Given the description of an element on the screen output the (x, y) to click on. 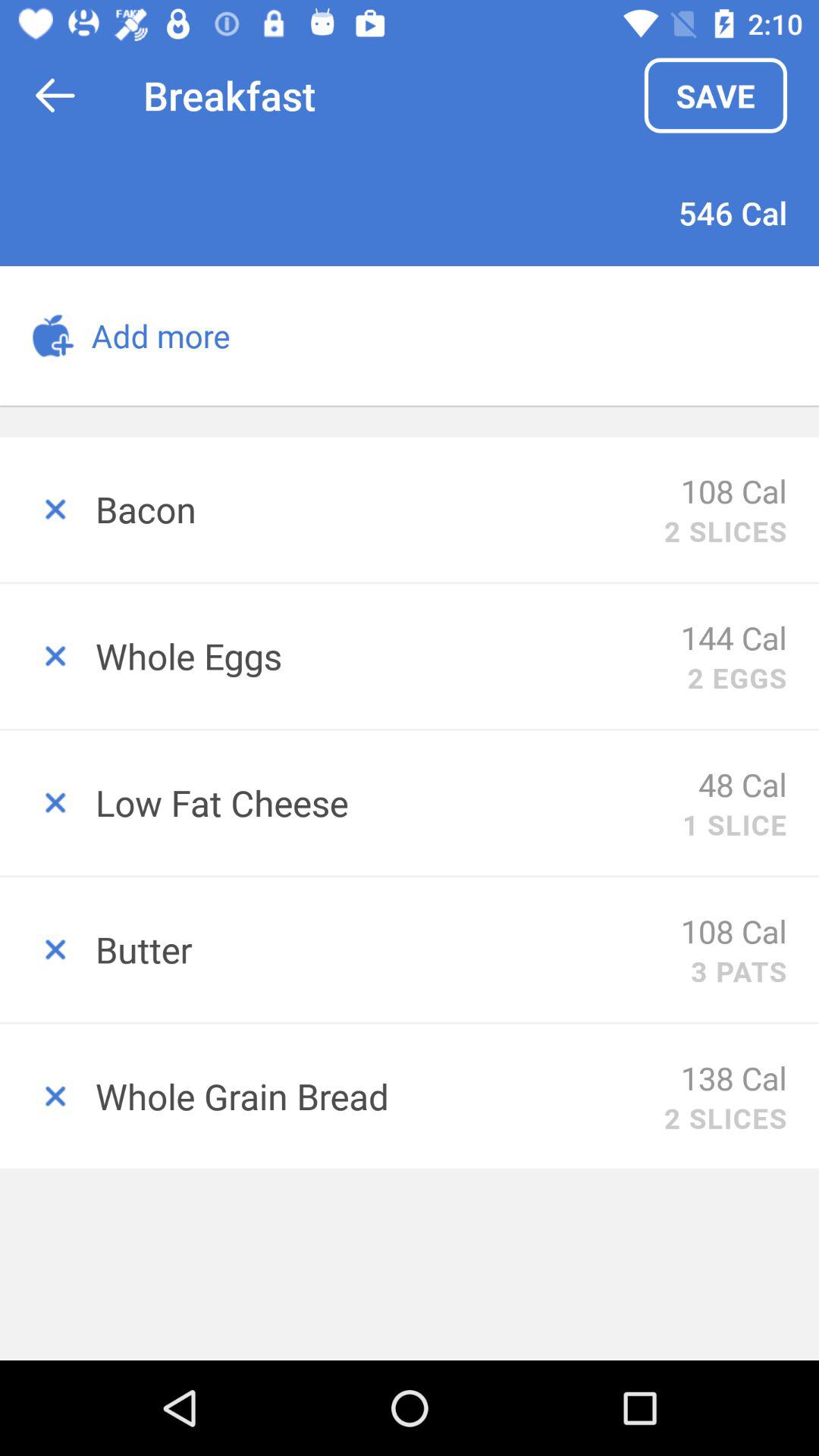
launch the 1 slice item (734, 824)
